Given the description of an element on the screen output the (x, y) to click on. 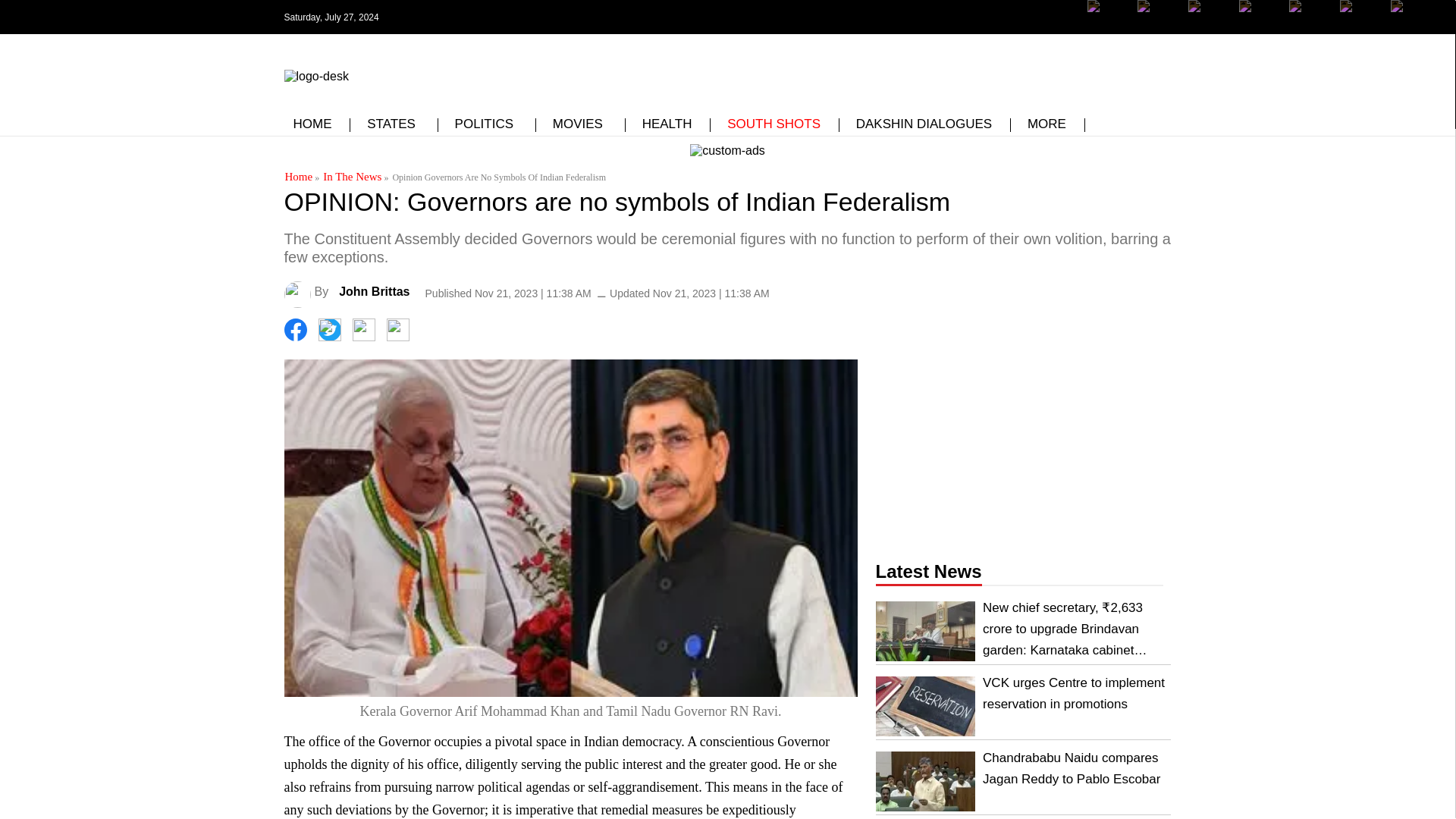
Advertisement (788, 71)
SouthFirst youtube (1260, 27)
SouthFirst facebook (1108, 16)
SouthFirst facebook (1108, 27)
logo (315, 72)
logo-desk (315, 76)
SouthFirst youtube (1309, 16)
SouthFirst instagram (1209, 27)
SouthFirst youtube (1309, 27)
SouthFirst instagram (1209, 16)
SouthFirst twitter (1158, 27)
SouthFirst youtube (1260, 16)
SouthFirst twitter (1158, 16)
